Given the description of an element on the screen output the (x, y) to click on. 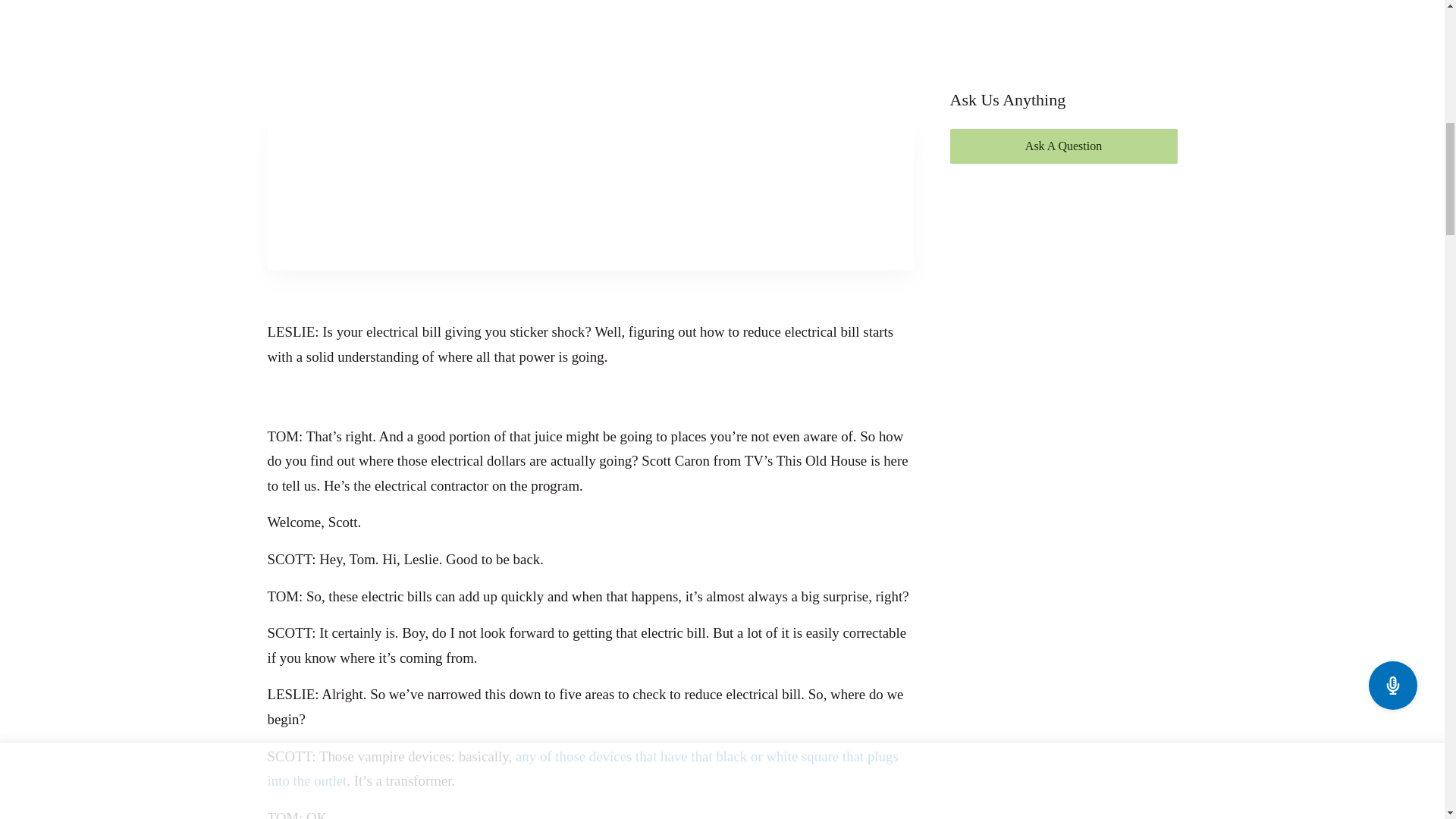
Chartable (807, 286)
iTunes (372, 286)
Spotify (589, 286)
